Given the description of an element on the screen output the (x, y) to click on. 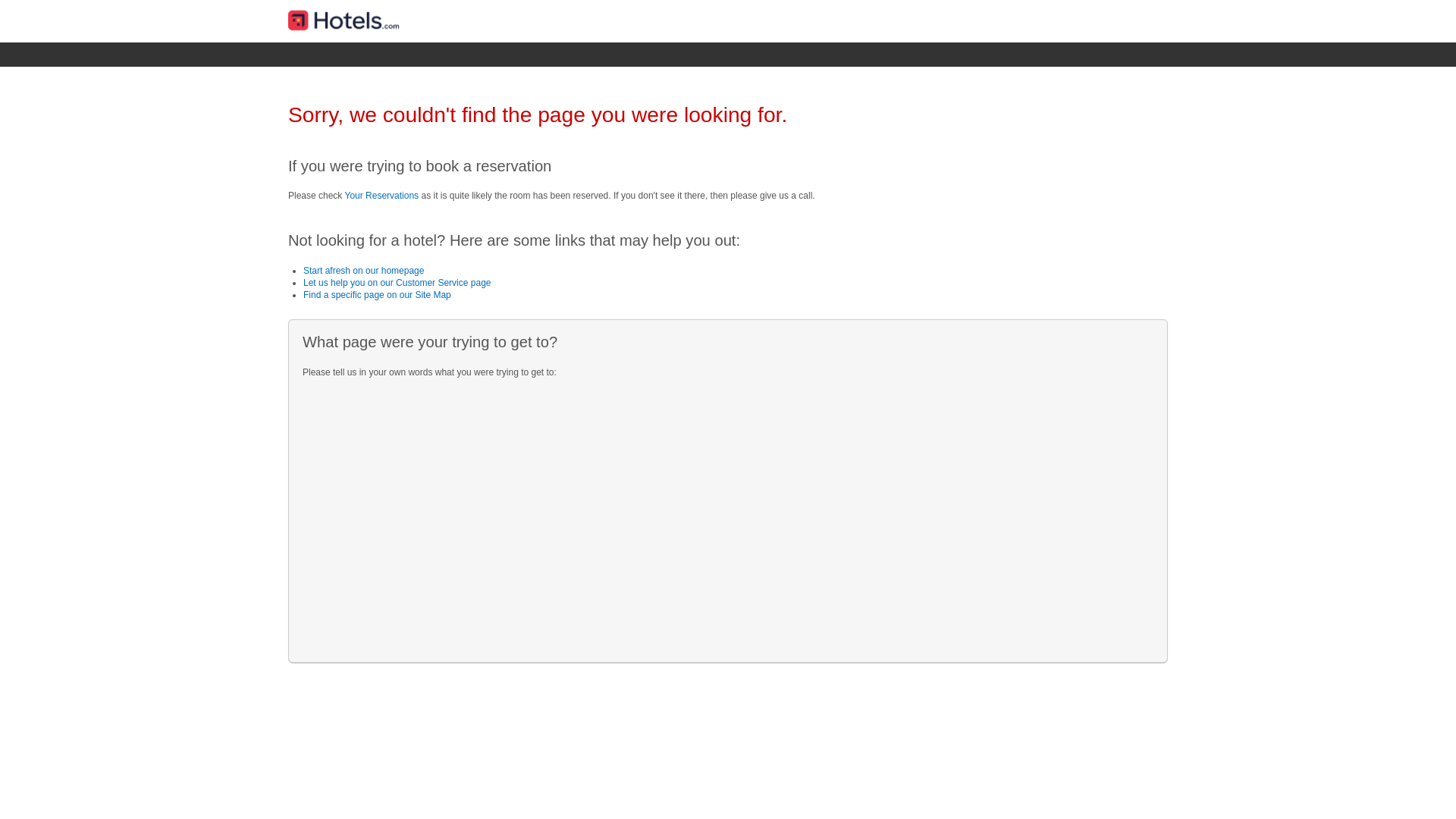
Find a specific page on our Site Map Element type: text (377, 294)
Your Reservations Element type: text (381, 195)
Let us help you on our Customer Service page Element type: text (396, 282)
Start afresh on our homepage Element type: text (363, 270)
